Given the description of an element on the screen output the (x, y) to click on. 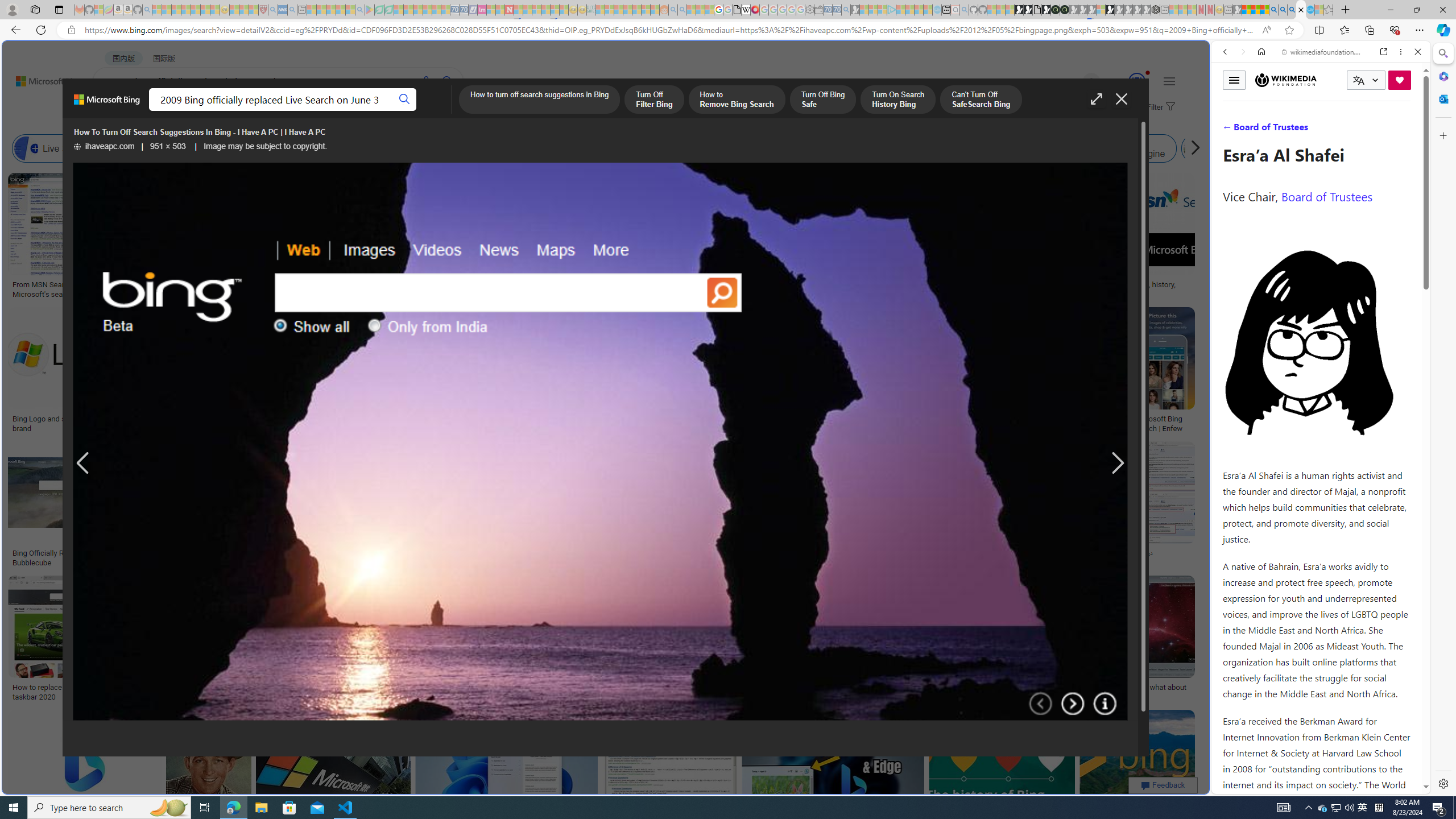
2009 Bing officially replaced Live Search on June 3 - Search (1283, 9)
Play Zoo Boom in your browser | Games from Microsoft Start (1027, 9)
Bing Logo, symbol, meaning, history, PNG, brand (1124, 289)
Search using voice (426, 80)
Technology History timeline | Timetoast timelines (833, 289)
